Given the description of an element on the screen output the (x, y) to click on. 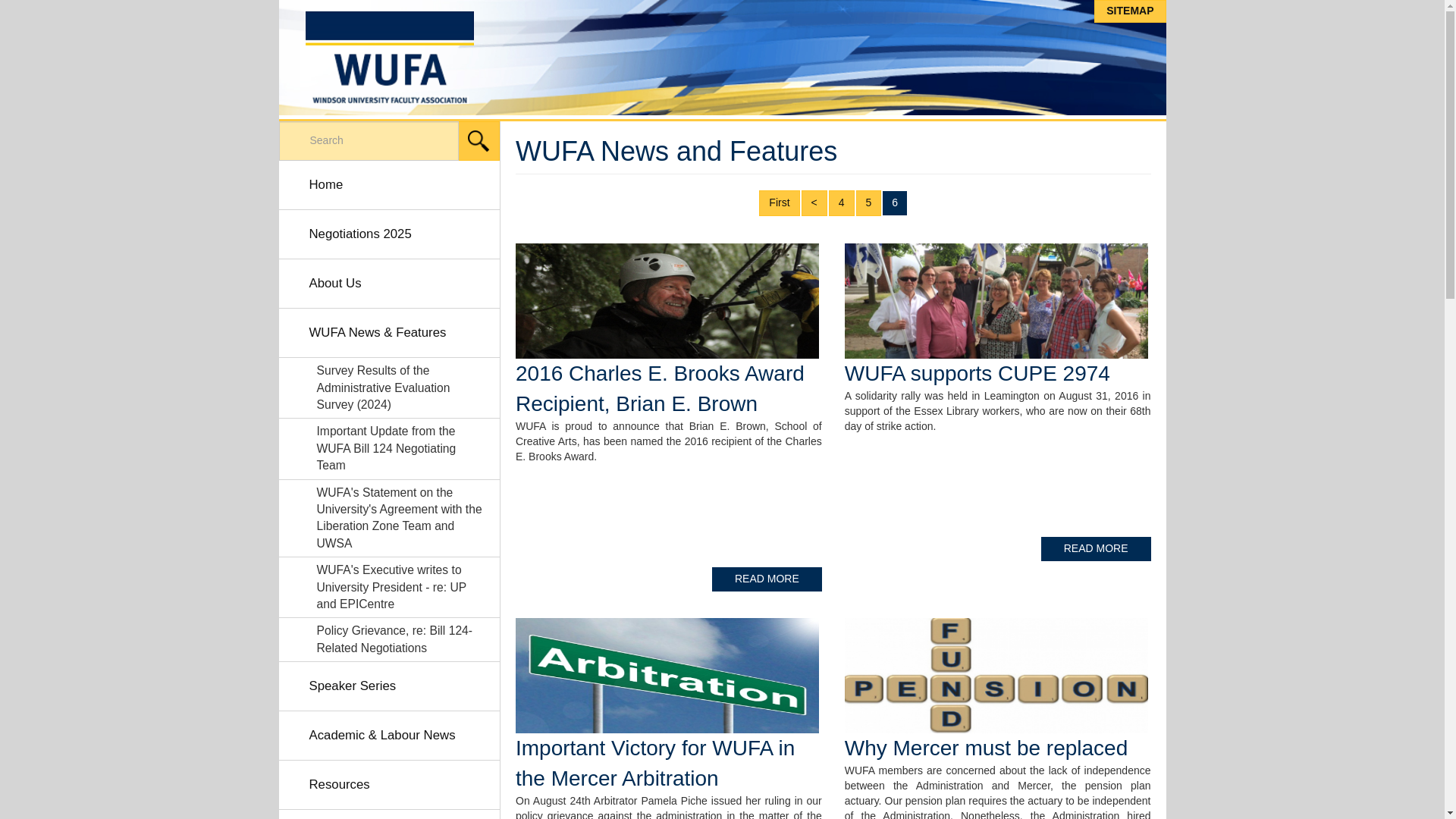
Search (478, 140)
SITEMAP (1130, 11)
Resources (389, 784)
Speaker Series (389, 686)
Important Update from the WUFA Bill 124 Negotiating Team (389, 448)
About Us (389, 283)
previous (814, 203)
Negotiations 2025 (389, 234)
first (778, 203)
